Given the description of an element on the screen output the (x, y) to click on. 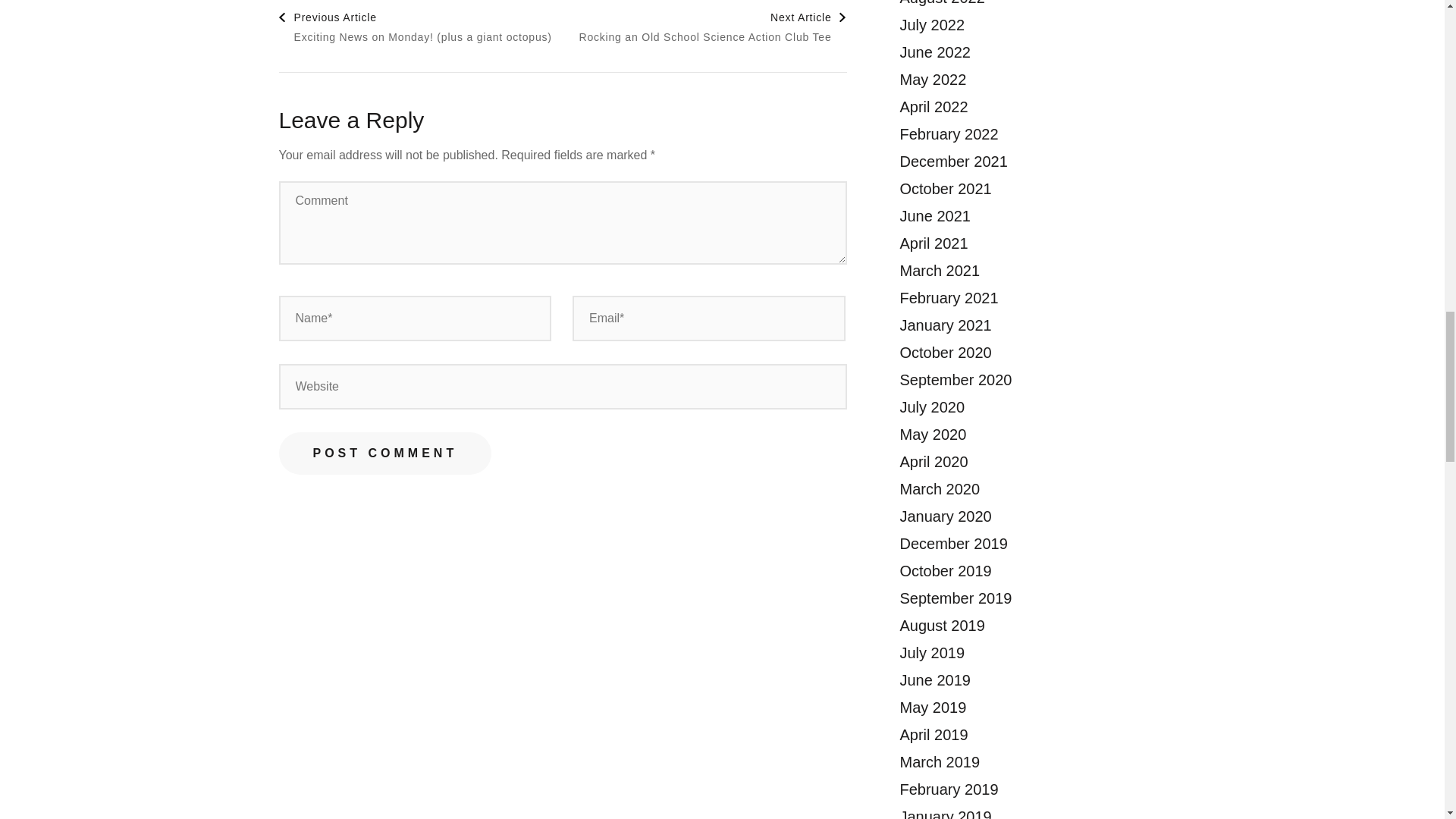
Post Comment (385, 453)
Post Comment (711, 26)
